Given the description of an element on the screen output the (x, y) to click on. 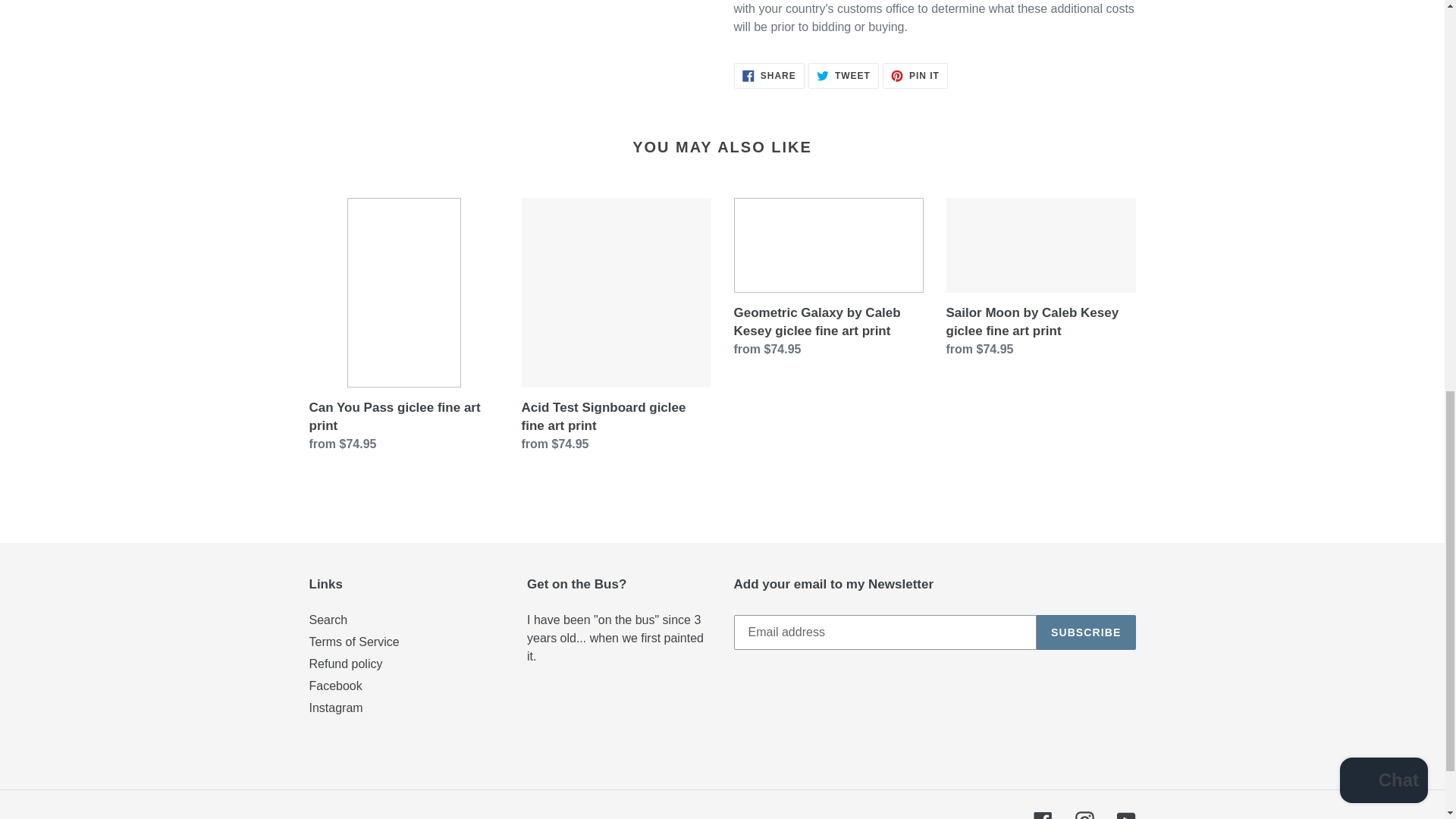
Sailor Moon by Caleb Kesey giclee fine art print (1040, 281)
Refund policy (345, 663)
Geometric Galaxy by Caleb Kesey giclee fine art print (828, 281)
Instagram (1084, 815)
Facebook (914, 75)
SUBSCRIBE (1041, 815)
Search (1085, 632)
